Given the description of an element on the screen output the (x, y) to click on. 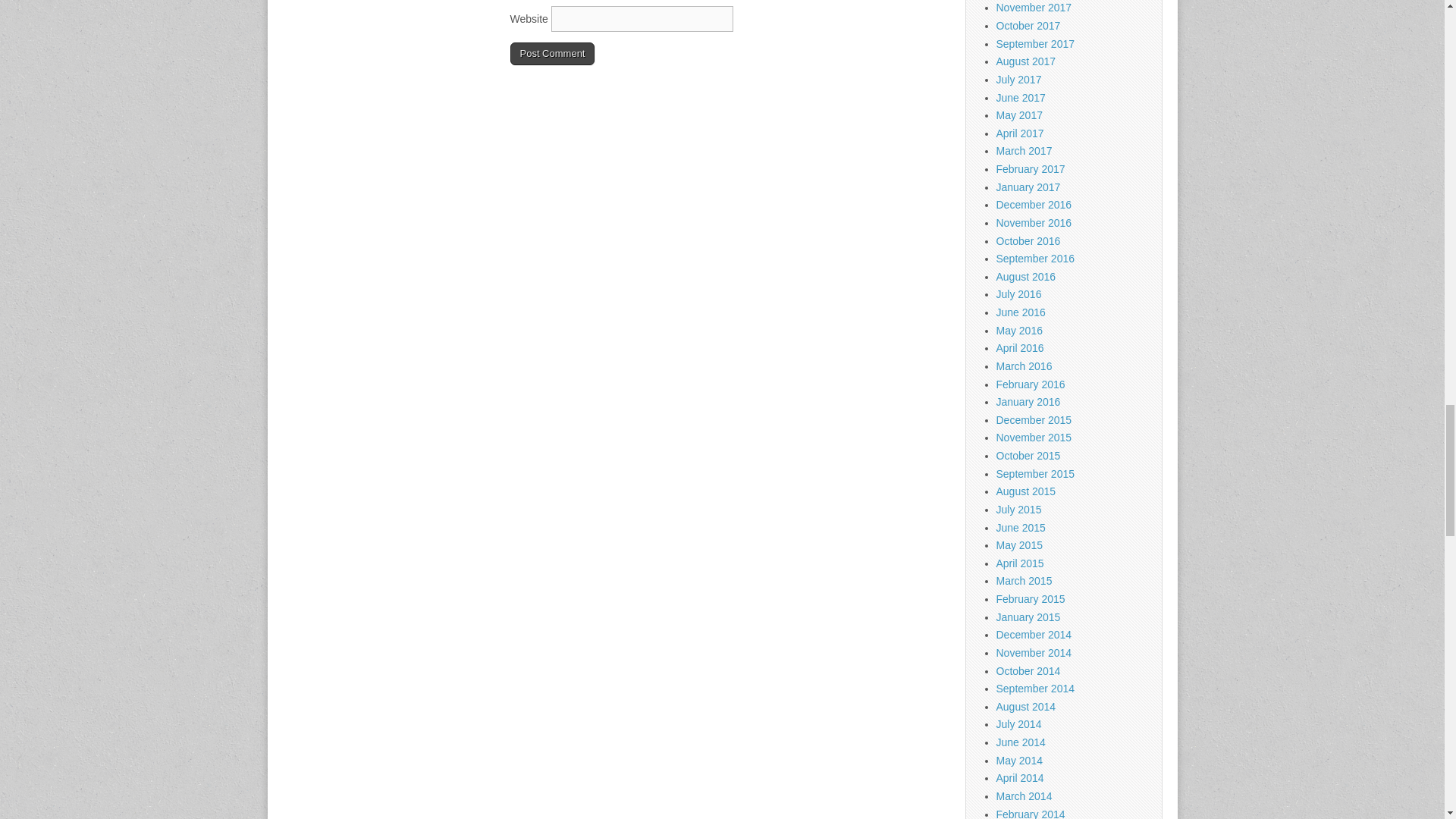
Post Comment (551, 53)
Post Comment (551, 53)
